Given the description of an element on the screen output the (x, y) to click on. 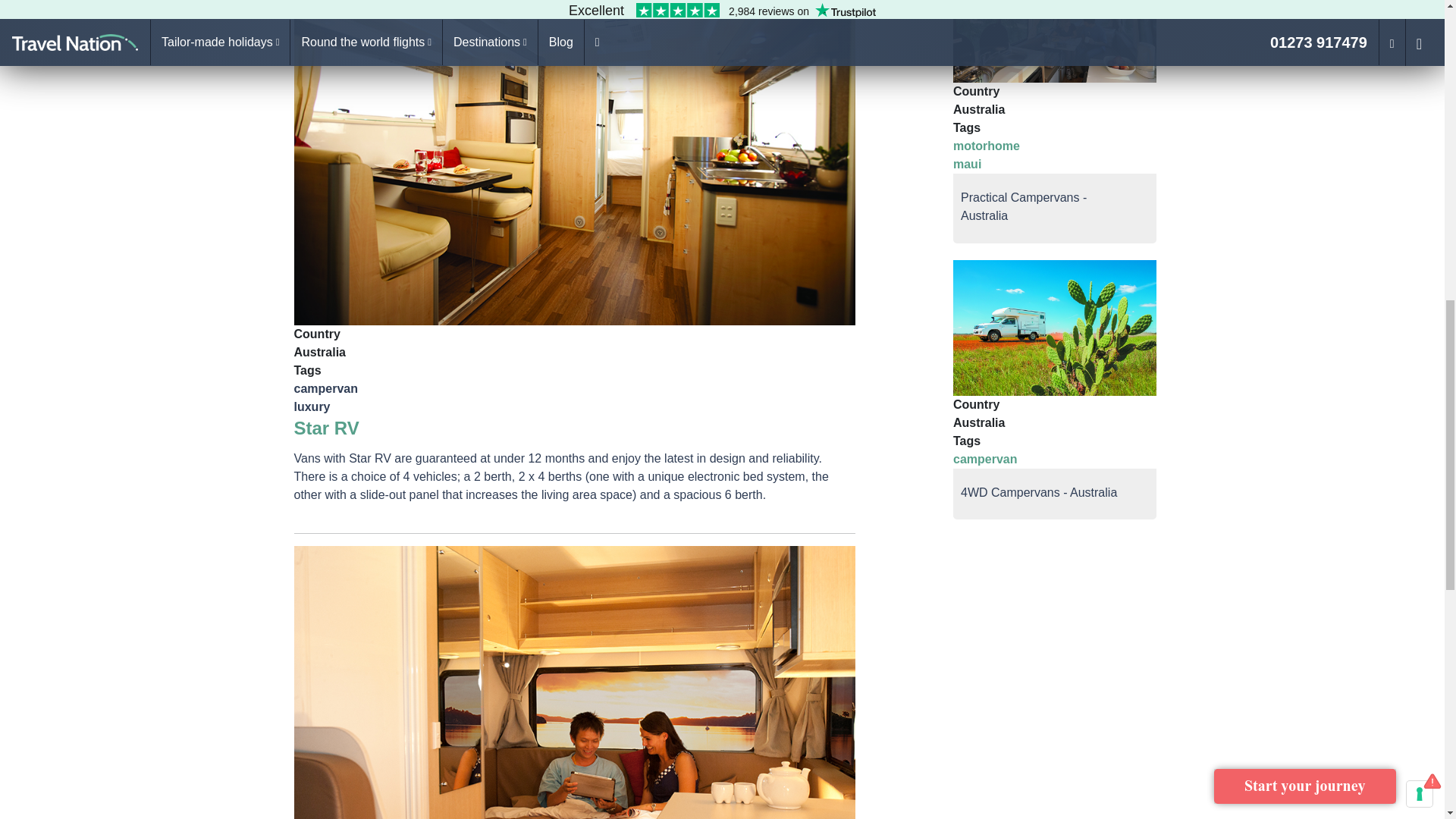
4WD campervan, Northern Territory, Australia (1055, 327)
Hit the road in complete comfort (1055, 41)
